Given the description of an element on the screen output the (x, y) to click on. 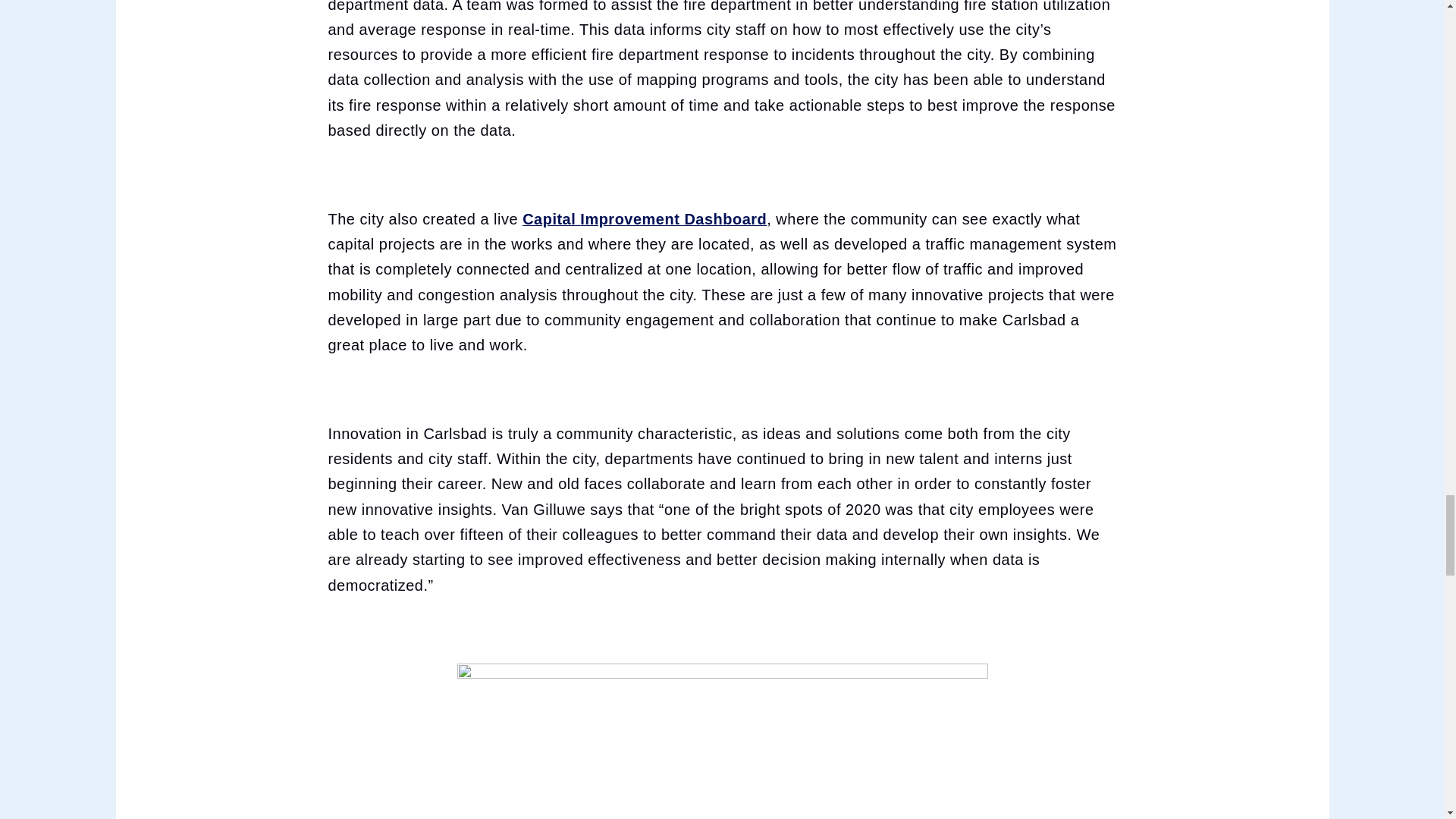
Capital Improvement Dashboard (644, 219)
